Given the description of an element on the screen output the (x, y) to click on. 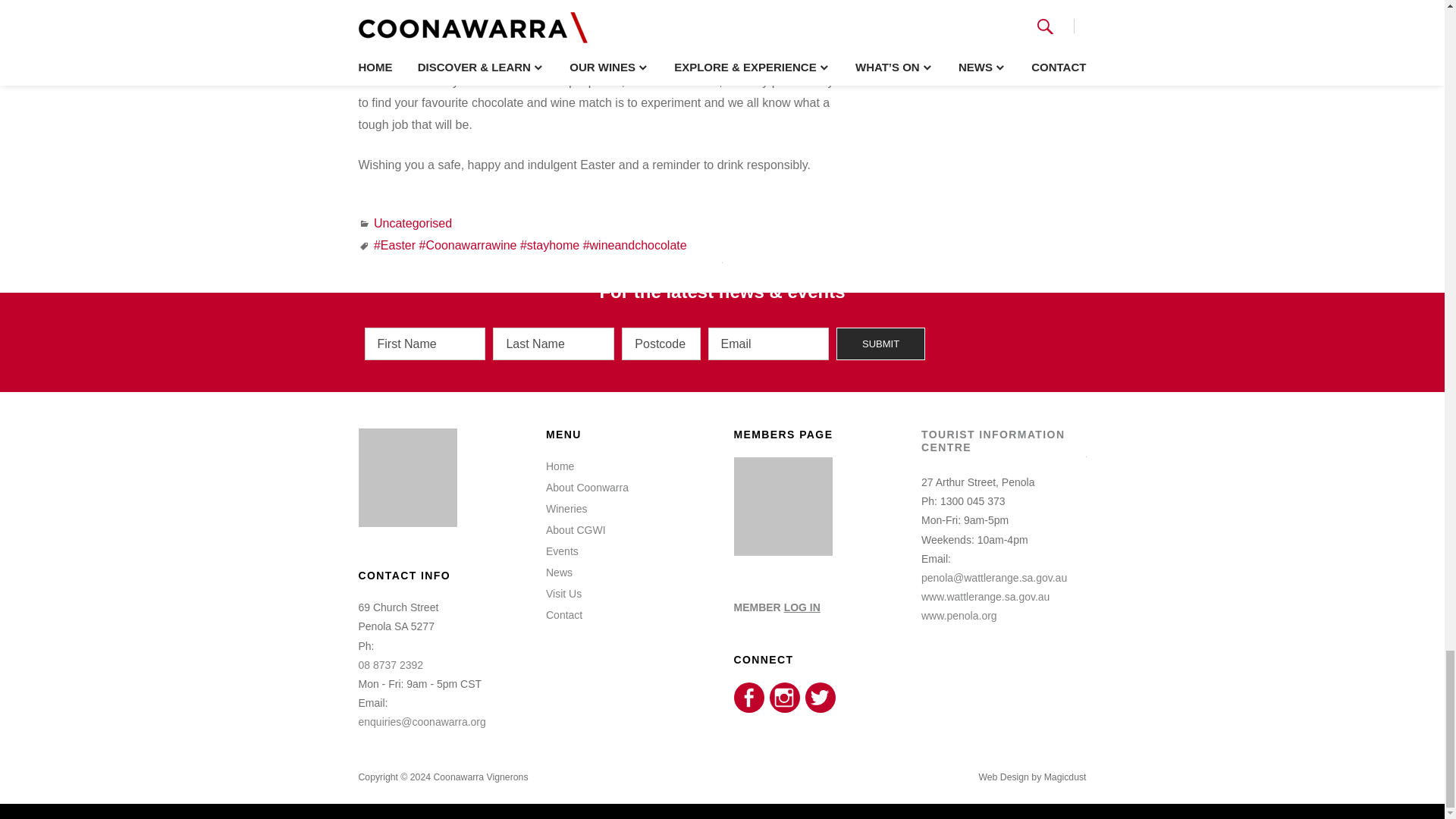
Members Page (782, 551)
Submit (879, 343)
